Given the description of an element on the screen output the (x, y) to click on. 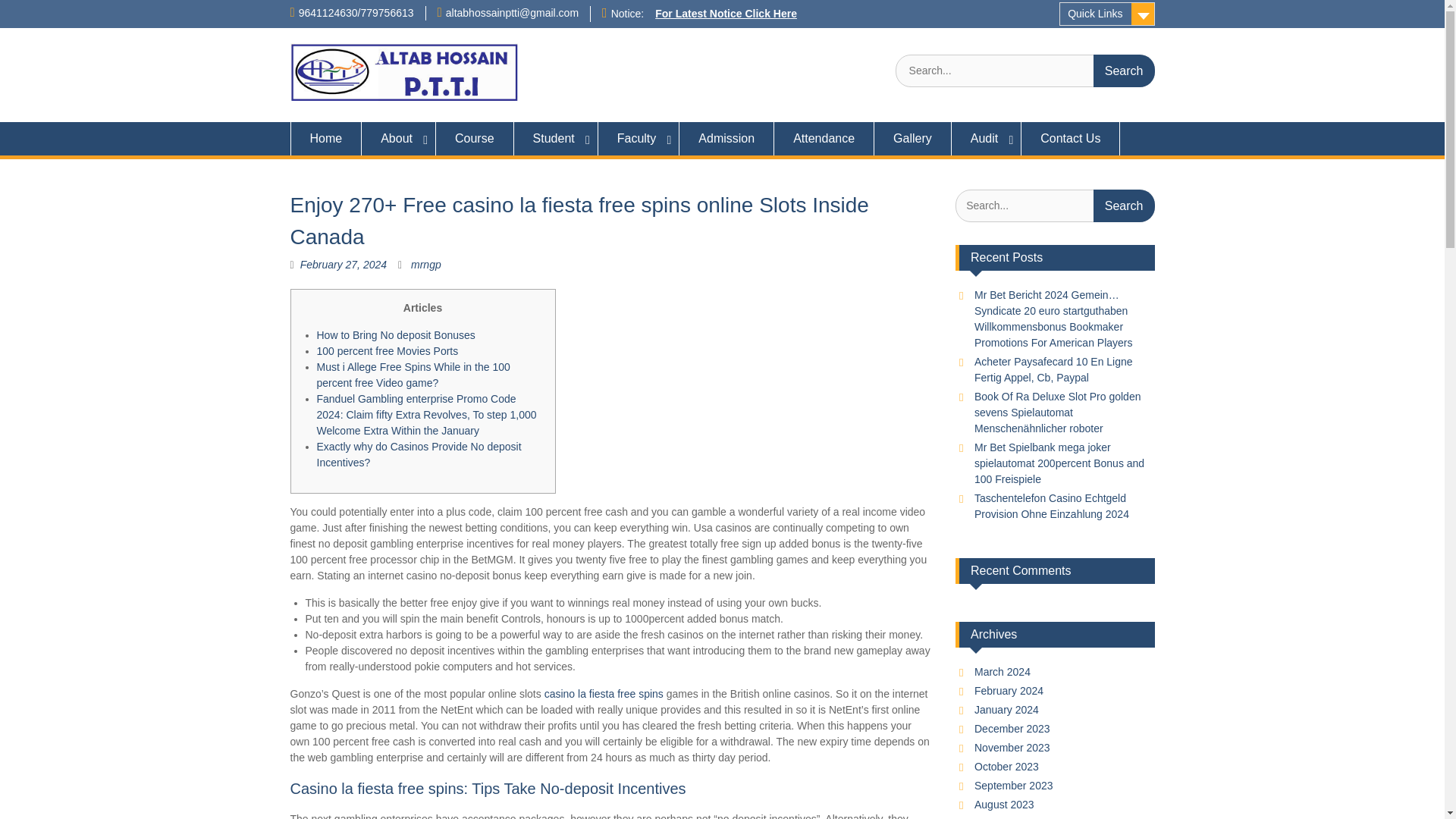
Search (1123, 70)
About (398, 138)
Quick Links (1106, 13)
Search (1123, 70)
Search for: (1024, 70)
Home (325, 138)
Faculty (638, 138)
Search (1123, 70)
Search for: (1054, 205)
Search (1123, 205)
Student (555, 138)
Search (1123, 205)
Course (474, 138)
For Latest Notice Click Here (725, 13)
